Given the description of an element on the screen output the (x, y) to click on. 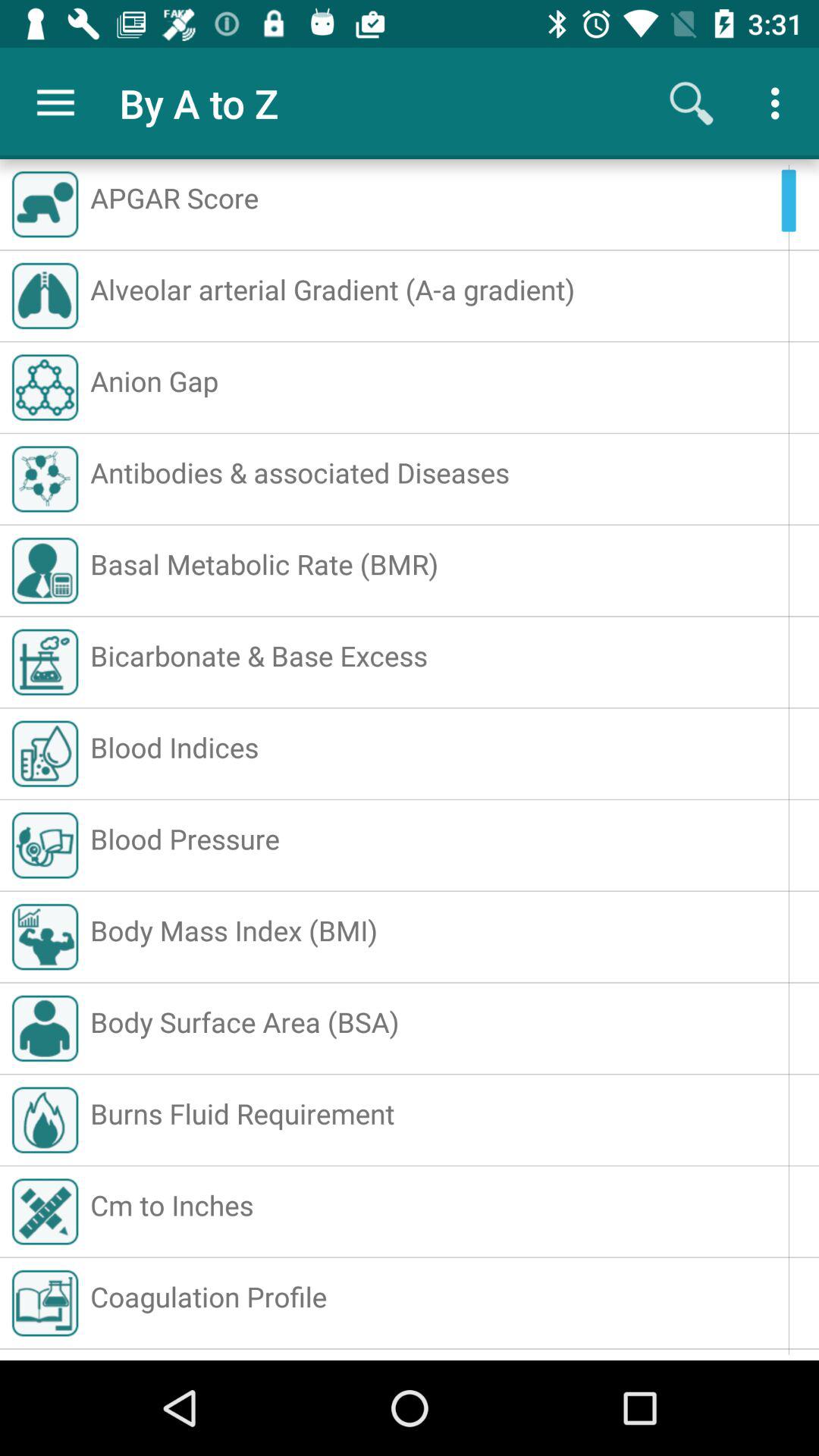
select the option icon (779, 103)
select the 3rd icon from the bottom (45, 1119)
go to the icon of basal metabolic rate bmr (45, 570)
select the icon which is next to body surface area bsa (45, 1028)
